Given the description of an element on the screen output the (x, y) to click on. 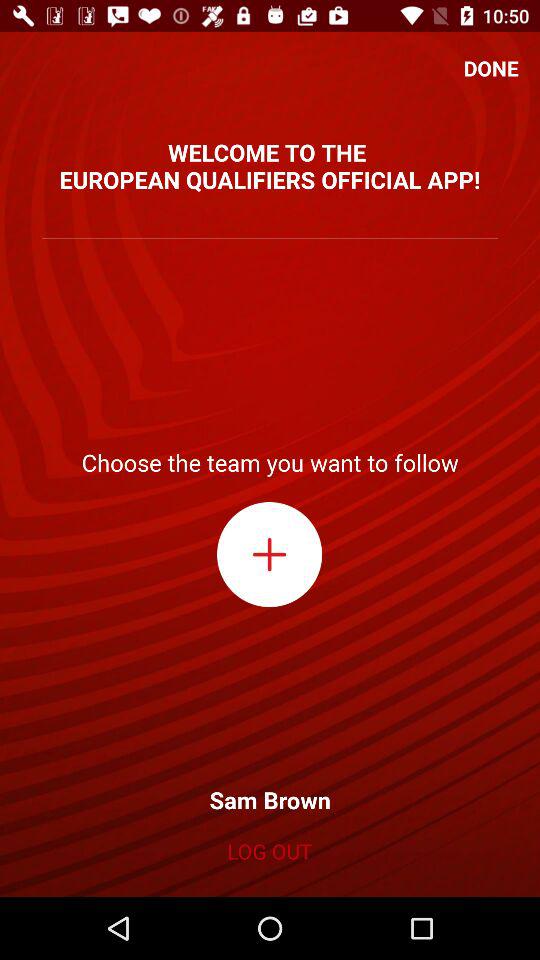
choose the log out icon (269, 851)
